Given the description of an element on the screen output the (x, y) to click on. 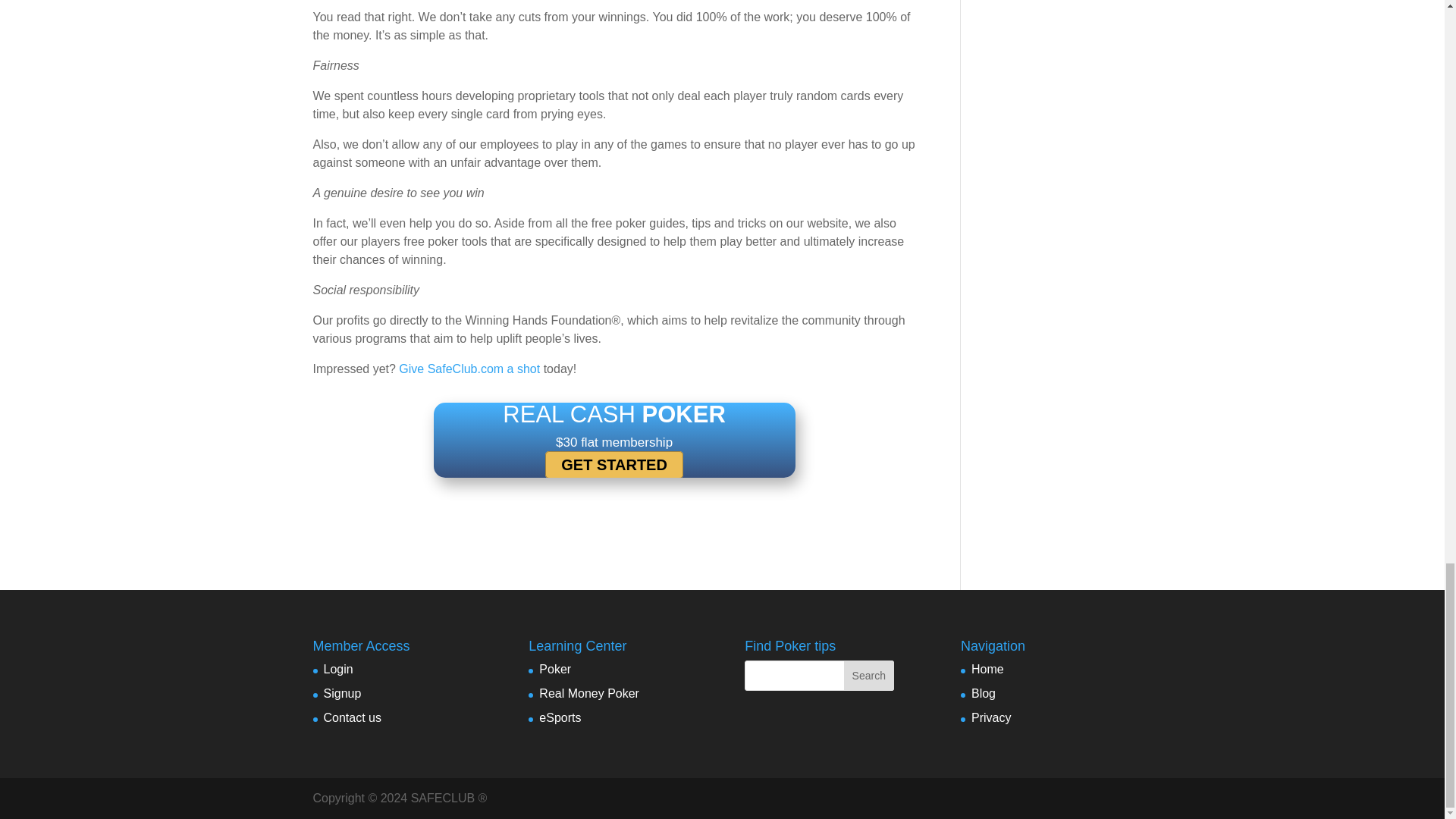
Poker (554, 668)
eSports (559, 717)
Search (868, 675)
Real Money Poker (588, 693)
GET STARTED (613, 464)
Home (987, 668)
Contact us (351, 717)
Give SafeClub.com a shot (469, 368)
Login (337, 668)
Search (868, 675)
